Given the description of an element on the screen output the (x, y) to click on. 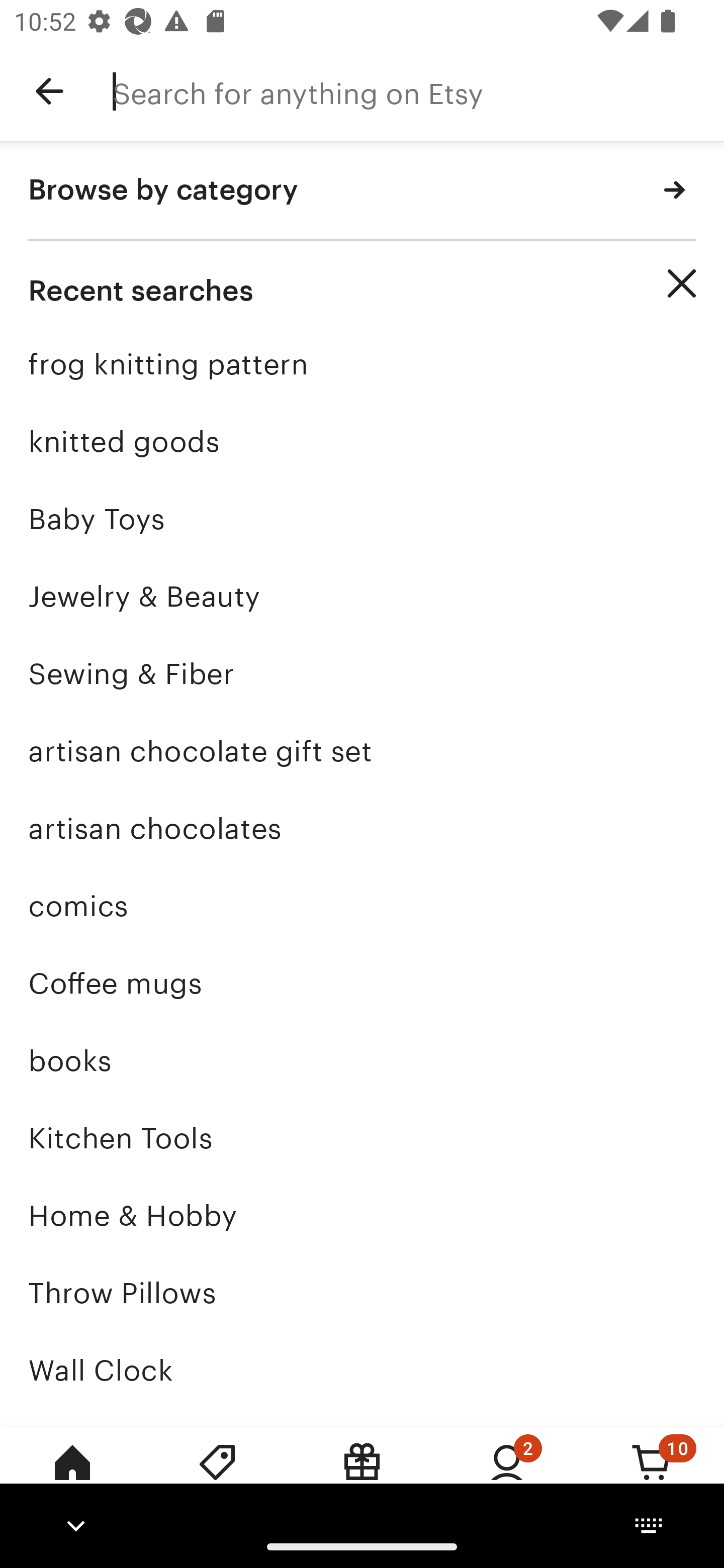
Navigate up (49, 91)
Search for anything on Etsy (418, 91)
Browse by category (362, 191)
Clear (681, 283)
frog knitting pattern (362, 364)
knitted goods (362, 440)
Baby Toys (362, 518)
Jewelry & Beauty (362, 596)
Sewing & Fiber (362, 673)
artisan chocolate gift set (362, 750)
artisan chocolates (362, 828)
comics (362, 906)
Coffee mugs (362, 983)
books (362, 1060)
Kitchen Tools (362, 1138)
Home & Hobby (362, 1215)
Throw Pillows (362, 1292)
Wall Clock (362, 1370)
Deals (216, 1475)
Gift Mode (361, 1475)
You, 2 new notifications (506, 1475)
Cart, 10 new notifications (651, 1475)
